Given the description of an element on the screen output the (x, y) to click on. 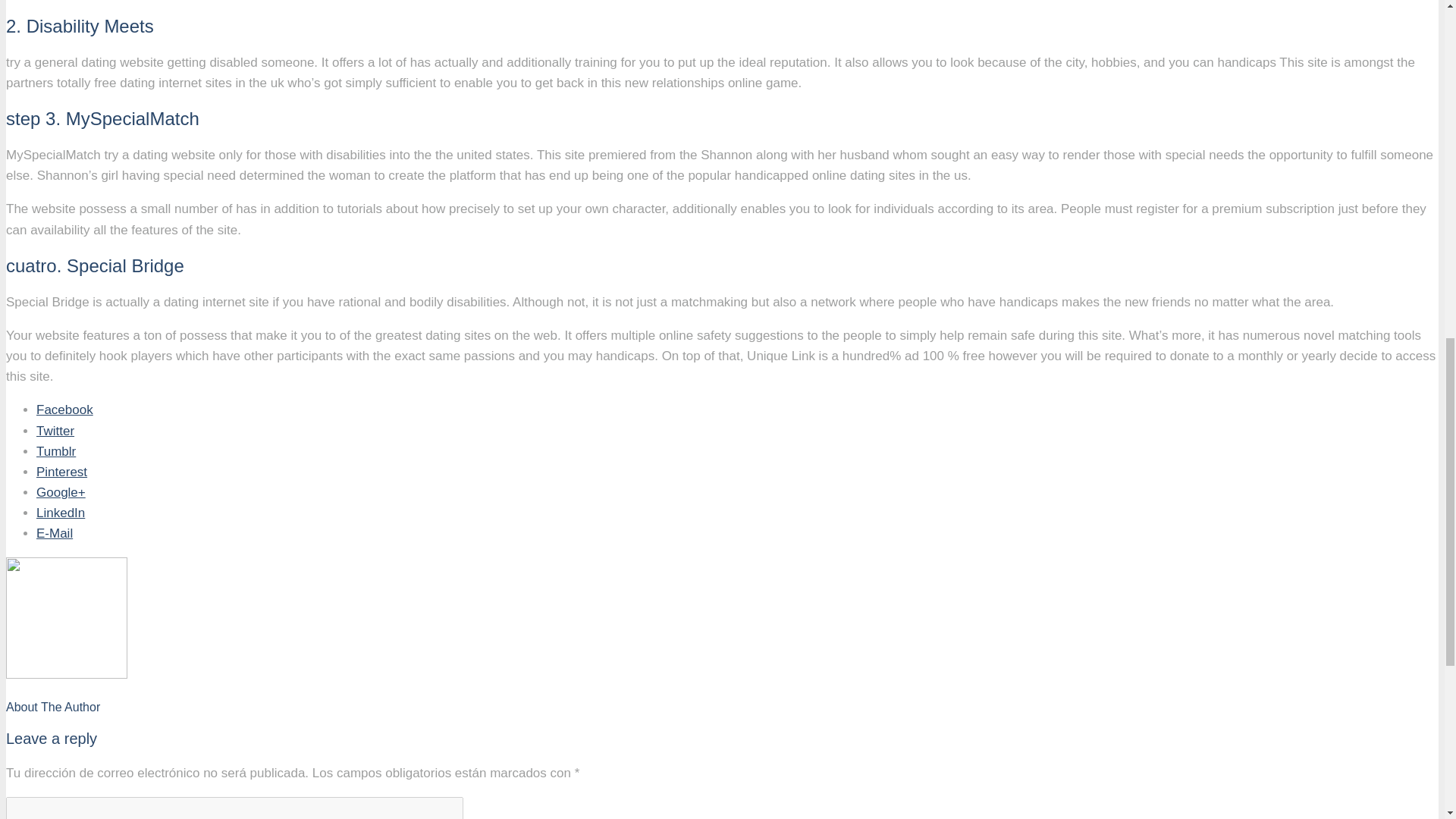
Share via Tumblr (55, 451)
LinkedIn (60, 513)
E-Mail (54, 533)
Share via Facebook (64, 409)
Share via Pinterest (61, 472)
Pinterest (61, 472)
Facebook (64, 409)
Tumblr (55, 451)
Share via E-Mail (54, 533)
Twitter (55, 431)
Share via LinkedIn (60, 513)
Share via Twitter (55, 431)
